Given the description of an element on the screen output the (x, y) to click on. 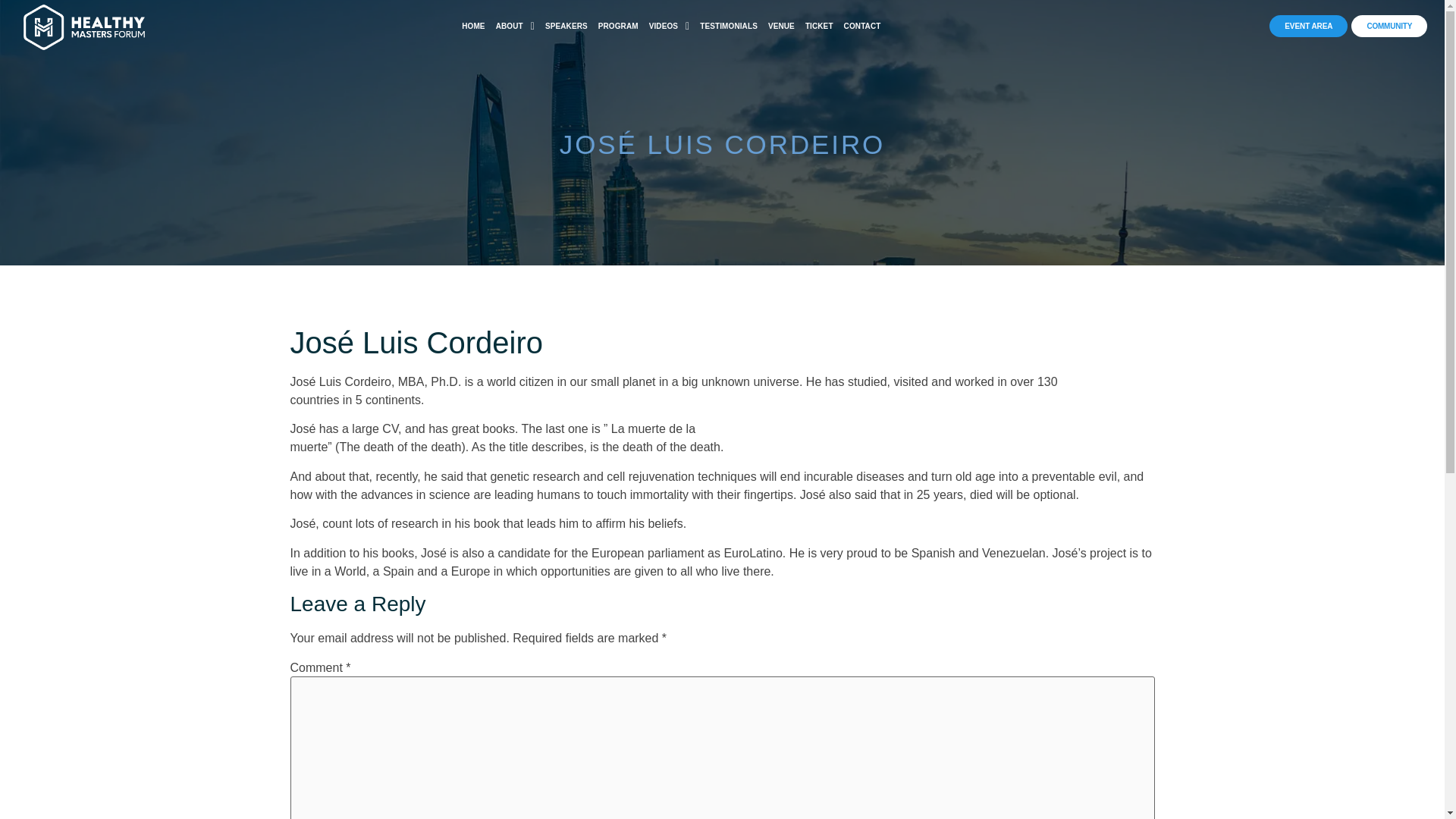
TICKET (818, 26)
VIDEOS (669, 26)
EVENT AREA (1308, 25)
PROGRAM (617, 26)
HOME (473, 26)
VENUE (780, 26)
ABOUT (515, 26)
TESTIMONIALS (728, 26)
CONTACT (862, 26)
COMMUNITY (1388, 25)
SPEAKERS (566, 26)
